Given the description of an element on the screen output the (x, y) to click on. 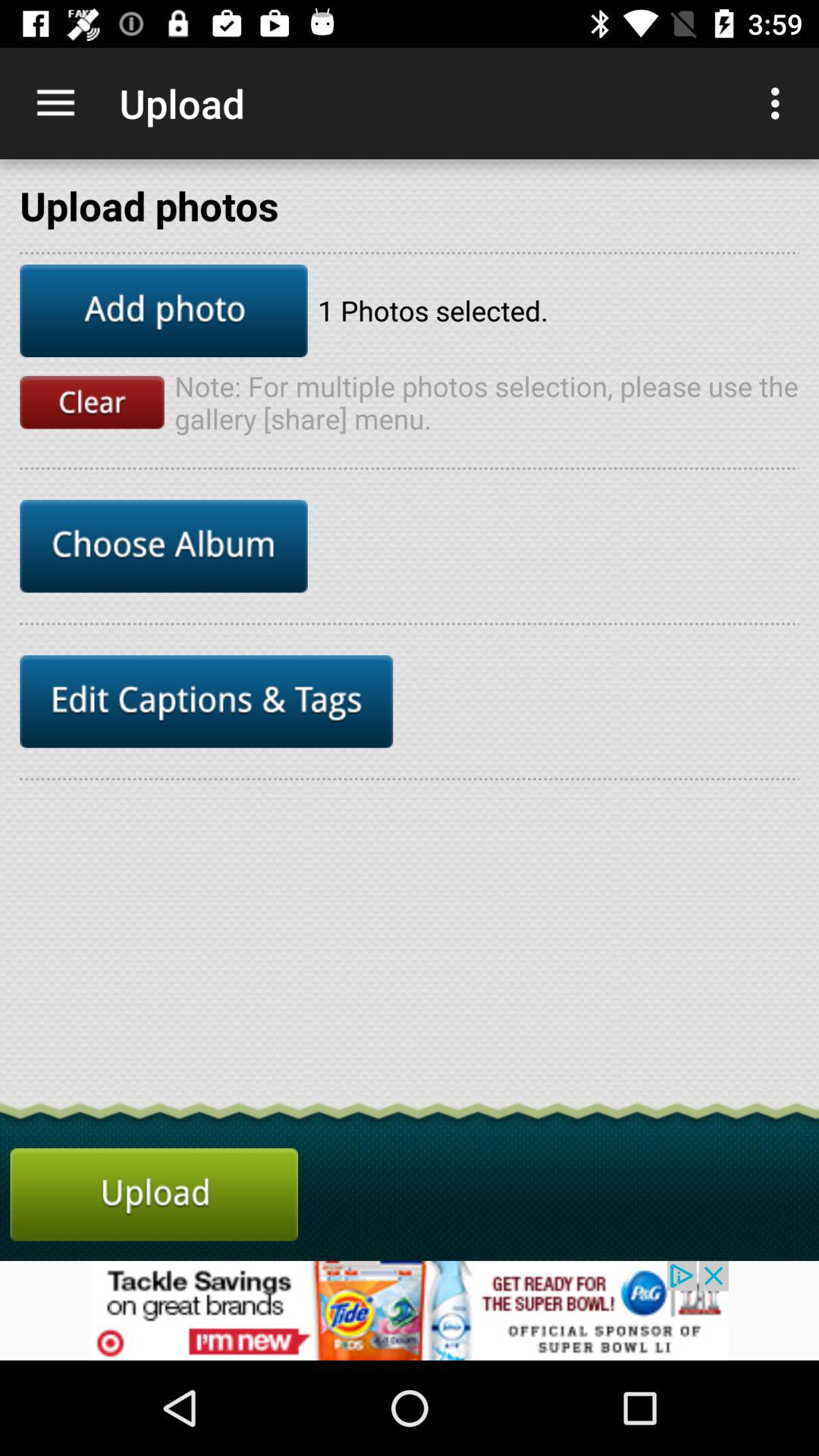
edit captions e tags (206, 701)
